Given the description of an element on the screen output the (x, y) to click on. 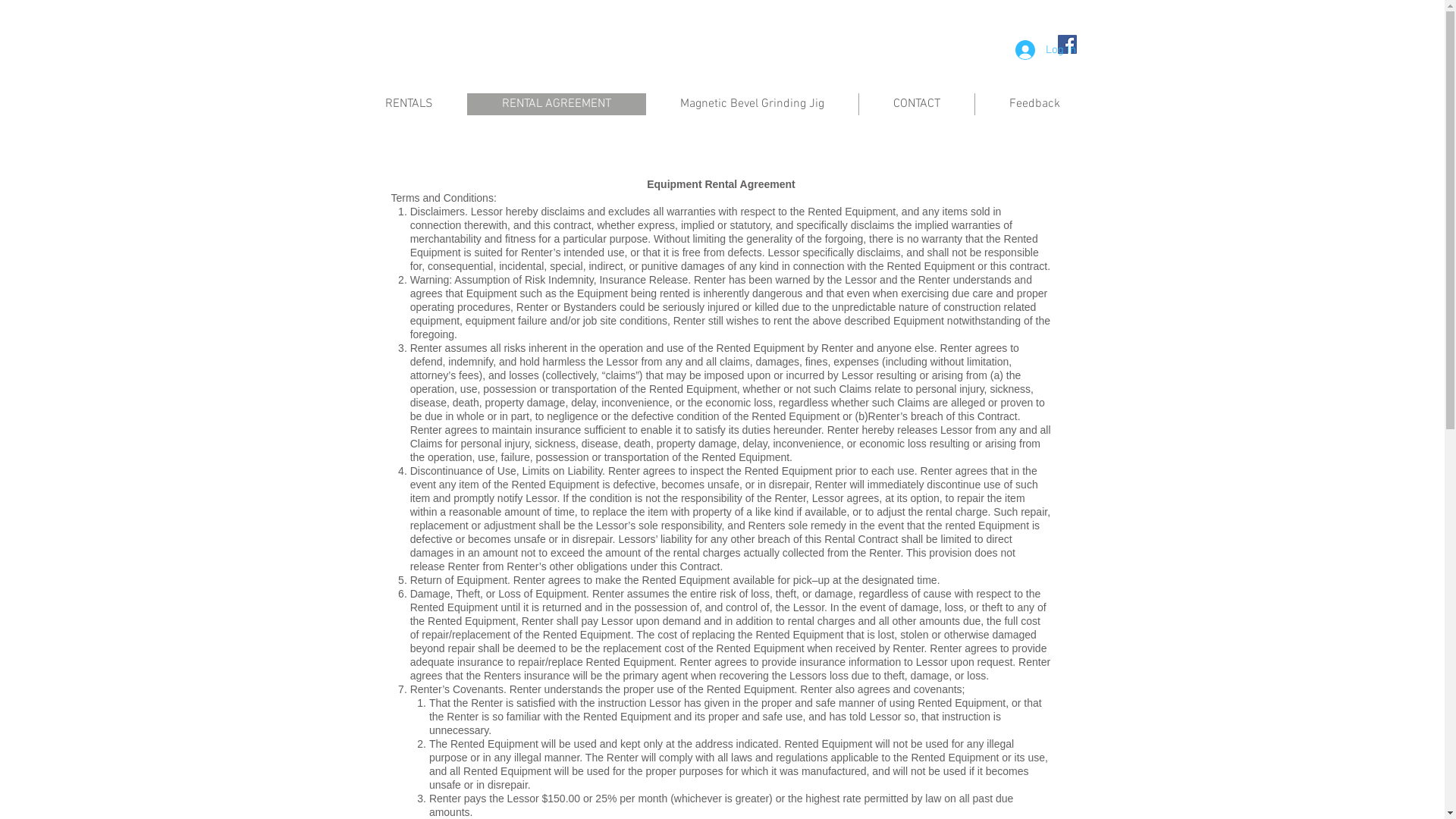
630-774-0559 Element type: text (667, 40)
RENTALS Element type: text (408, 104)
Log In Element type: text (1044, 49)
RENTAL AGREEMENT Element type: text (556, 104)
CONTACT Element type: text (916, 104)
Feedback Element type: text (1033, 104)
Magnetic Bevel Grinding Jig Element type: text (750, 104)
